Given the description of an element on the screen output the (x, y) to click on. 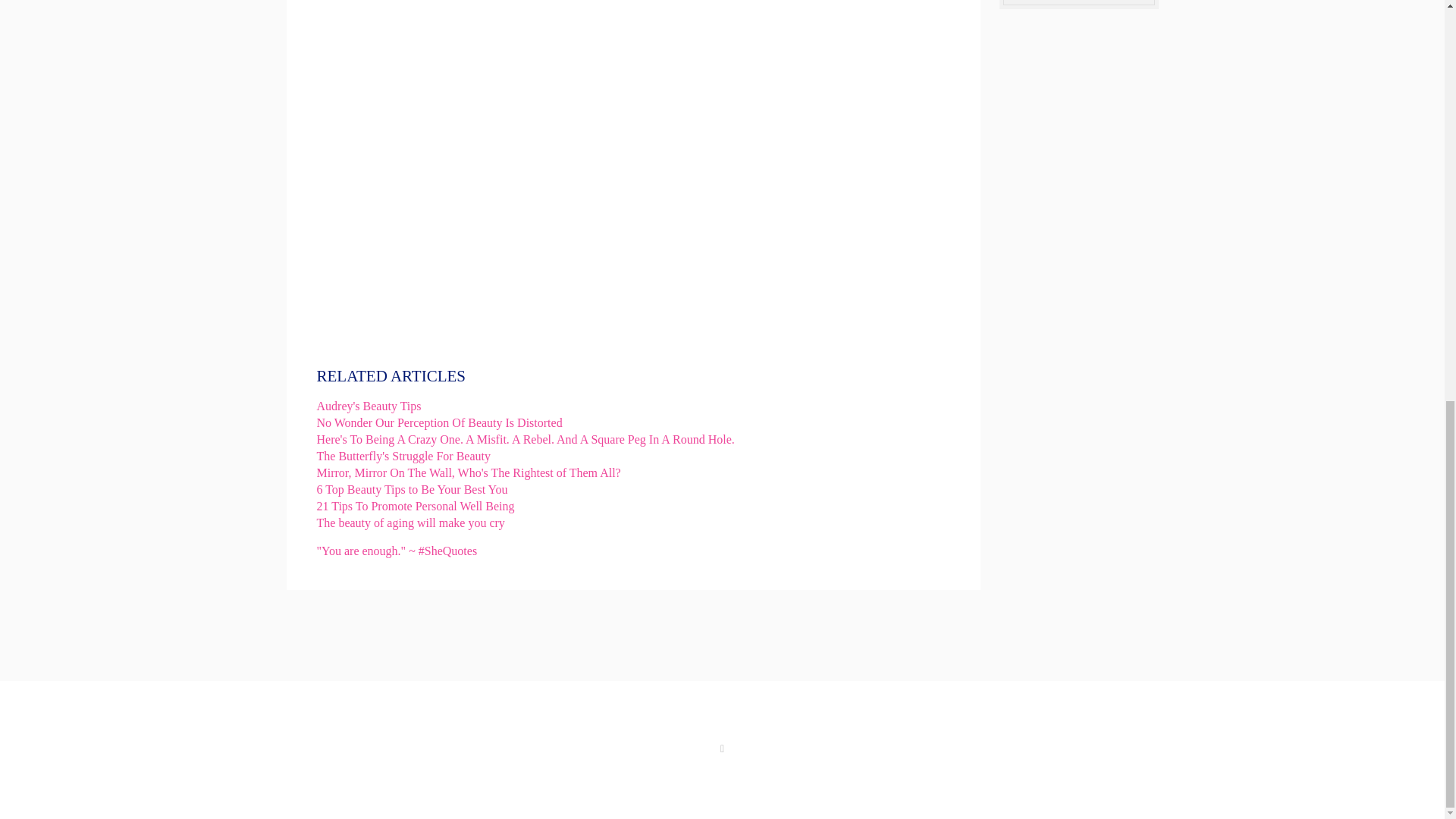
The Butterfly's Struggle For Beauty (404, 455)
The Butterfly's Struggle For Beauty (404, 455)
Audrey's Beauty Tips (369, 405)
No Wonder Our Perception Of Beauty Is Distorted (439, 422)
6 Top Beauty Tips to Be Your Best You (412, 489)
6 Top Beauty Tips to Be Your Best You (412, 489)
21 Tips To Promote Personal Well Being (416, 505)
Mirror, Mirror On The Wall, Who's The Rightest of Them All? (469, 472)
21 Tips To Promote Personal Well Being (416, 505)
Audrey's Beauty Tips (369, 405)
Mirror, Mirror On The Wall, Who's The Rightest of Them All? (469, 472)
No Wonder Our Perception Of Beauty Is Distorted (439, 422)
The beauty of aging will make you cry (411, 522)
